Given the description of an element on the screen output the (x, y) to click on. 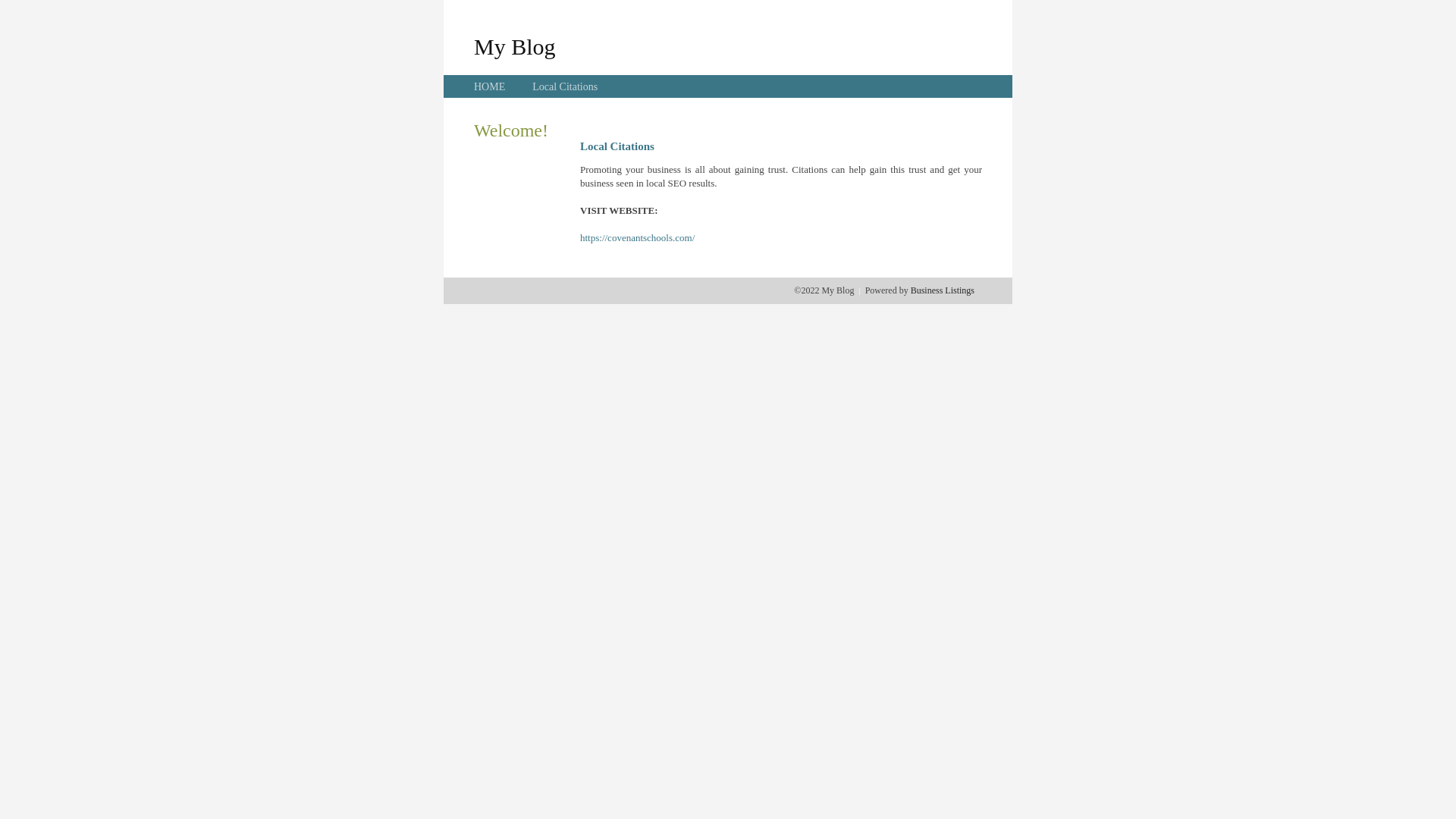
Local Citations Element type: text (564, 86)
HOME Element type: text (489, 86)
https://covenantschools.com/ Element type: text (637, 237)
My Blog Element type: text (514, 46)
Business Listings Element type: text (942, 290)
